Given the description of an element on the screen output the (x, y) to click on. 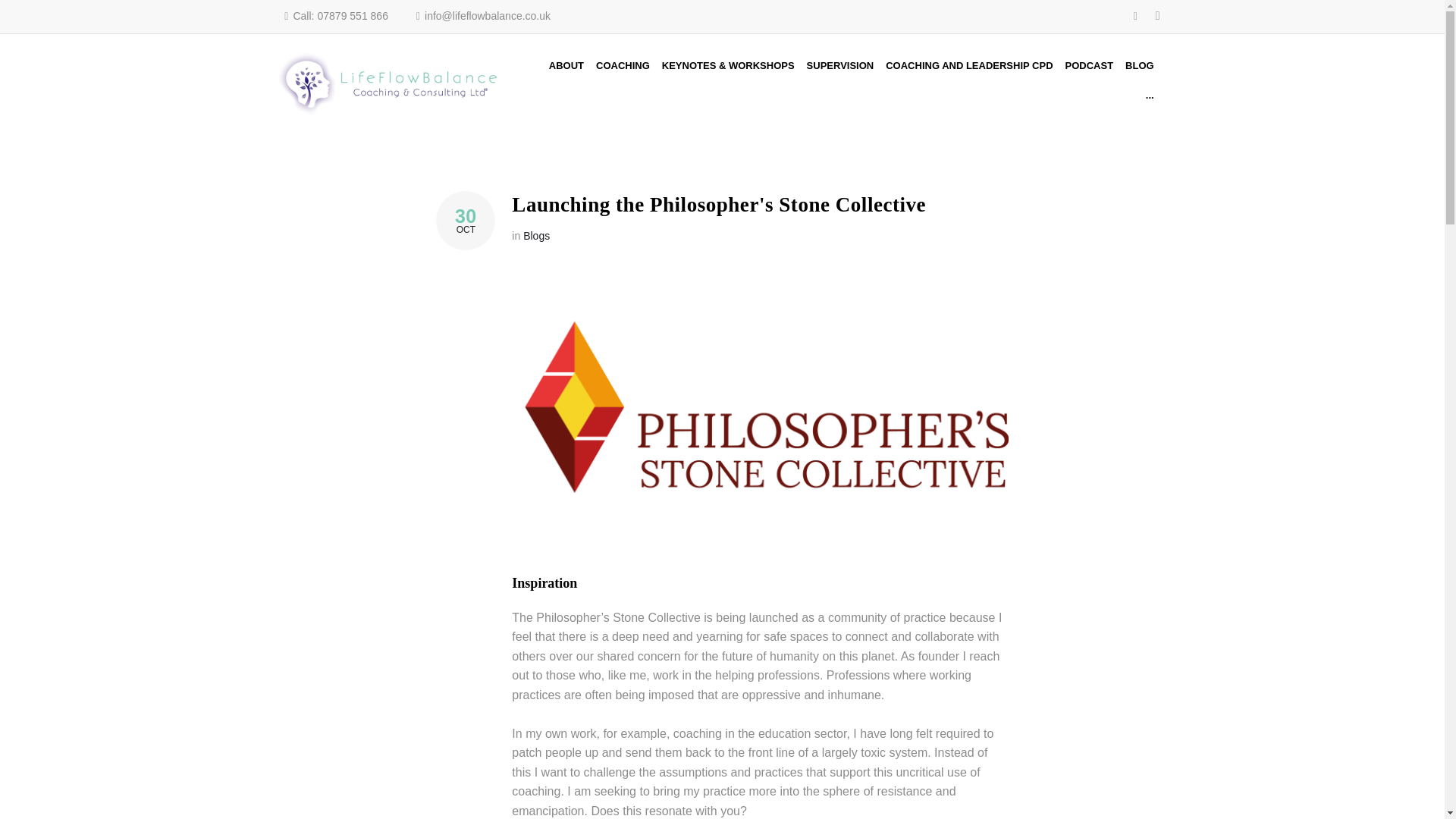
ABOUT (566, 65)
COACHING AND LEADERSHIP CPD (968, 65)
Blogs (536, 235)
BLOG (1139, 65)
SUPERVISION (465, 220)
07879 551 866 (840, 65)
COACHING (352, 16)
PODCAST (622, 65)
